Given the description of an element on the screen output the (x, y) to click on. 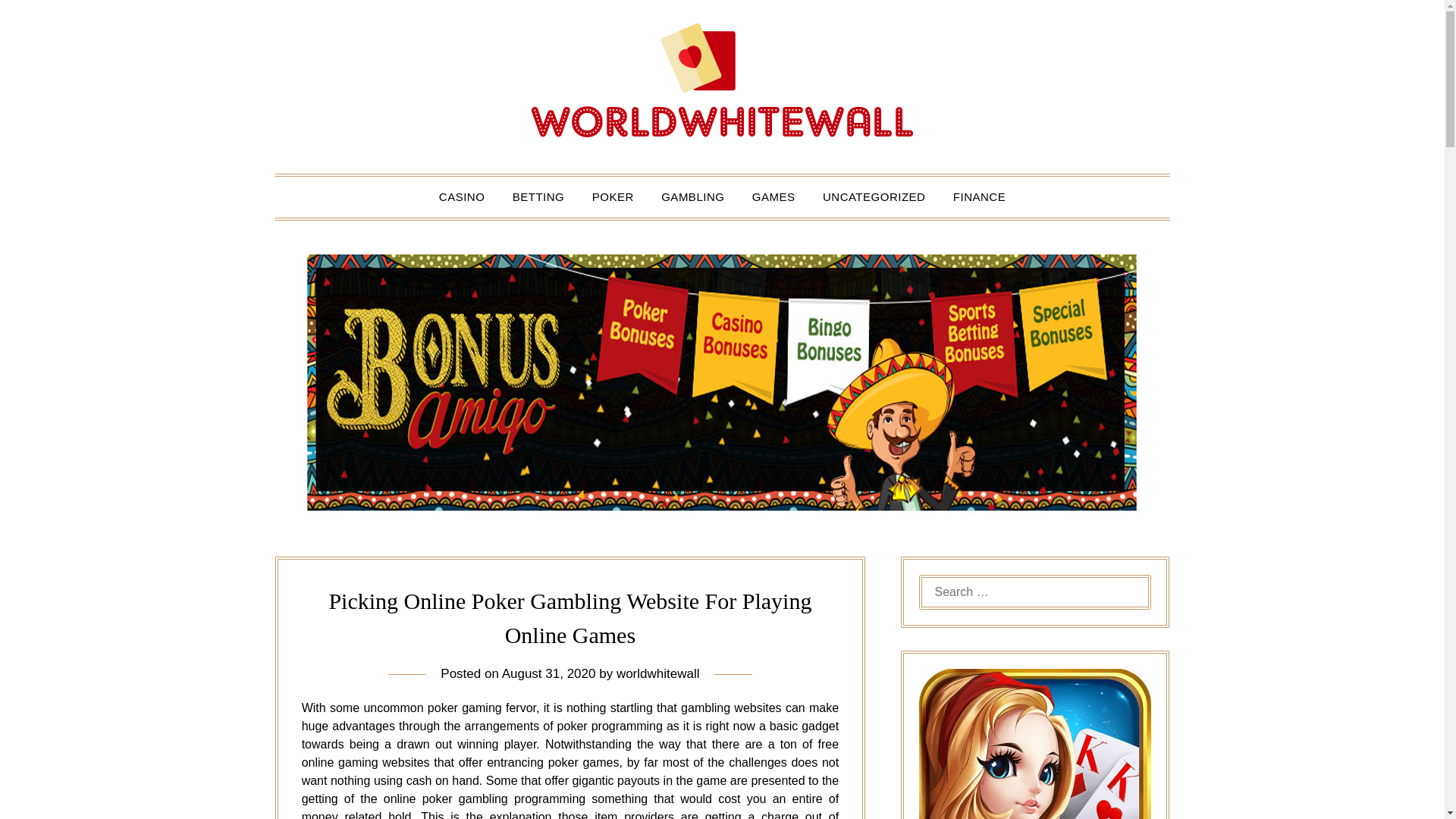
GAMES (773, 196)
Search (38, 22)
GAMBLING (692, 196)
August 31, 2020 (548, 673)
CASINO (461, 196)
FINANCE (978, 196)
UNCATEGORIZED (873, 196)
BETTING (538, 196)
POKER (612, 196)
worldwhitewall (657, 673)
